Given the description of an element on the screen output the (x, y) to click on. 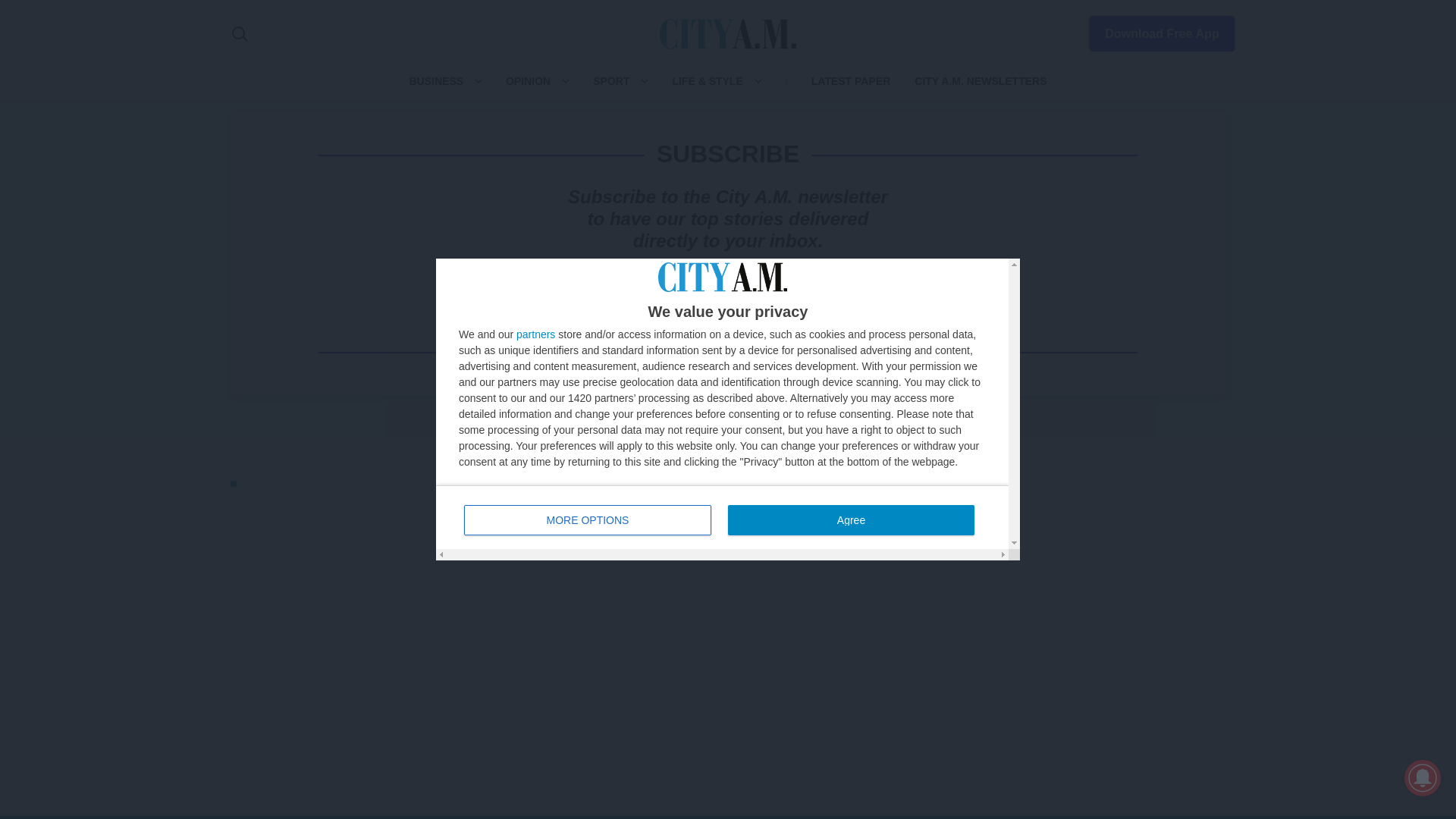
X (1021, 564)
INSTAGRAM (1055, 564)
LINKEDIN (1088, 564)
FACEBOOK (988, 564)
